Given the description of an element on the screen output the (x, y) to click on. 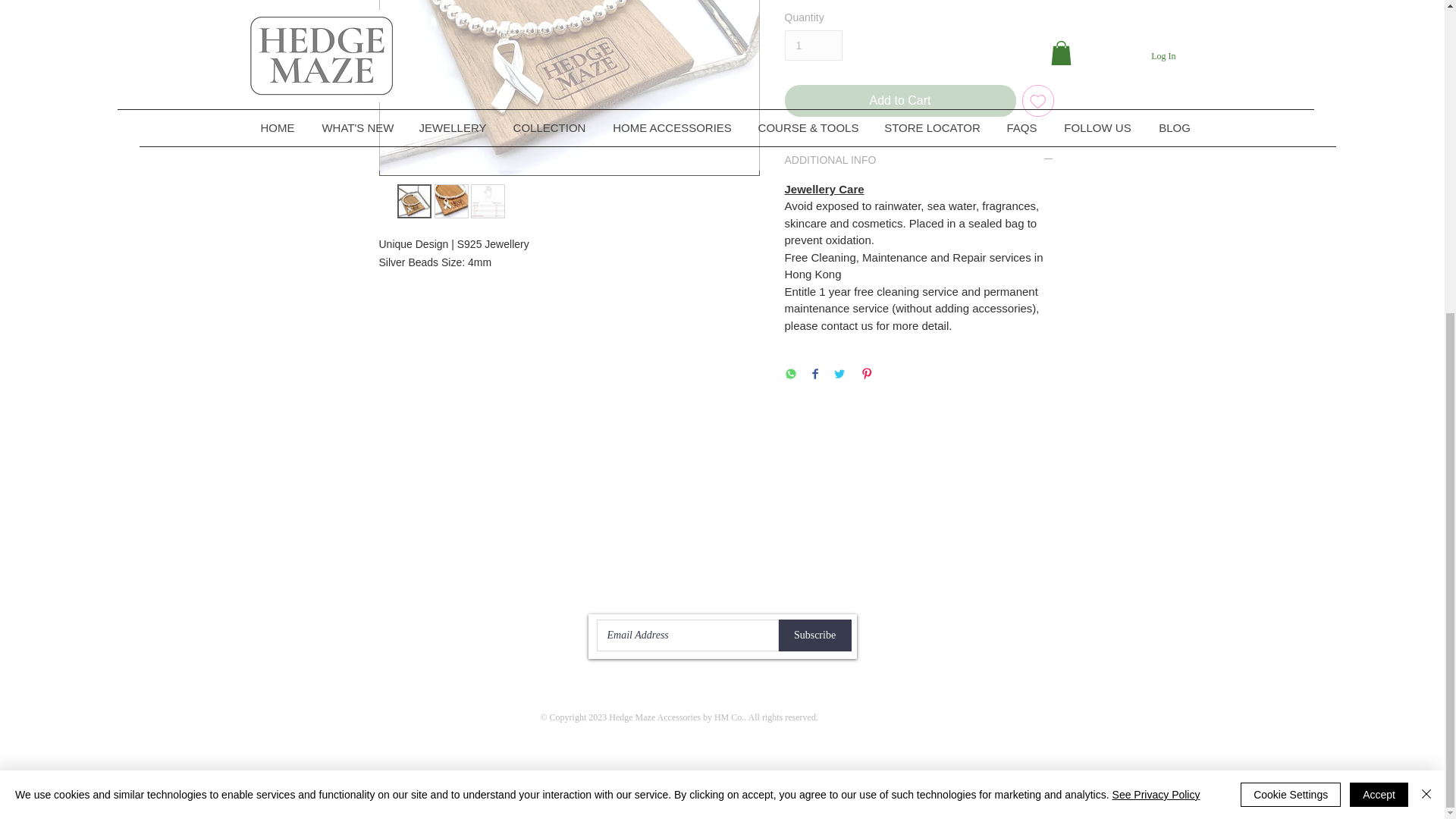
ADDITIONAL INFO (918, 160)
1 (812, 45)
Add to Cart (899, 101)
